Given the description of an element on the screen output the (x, y) to click on. 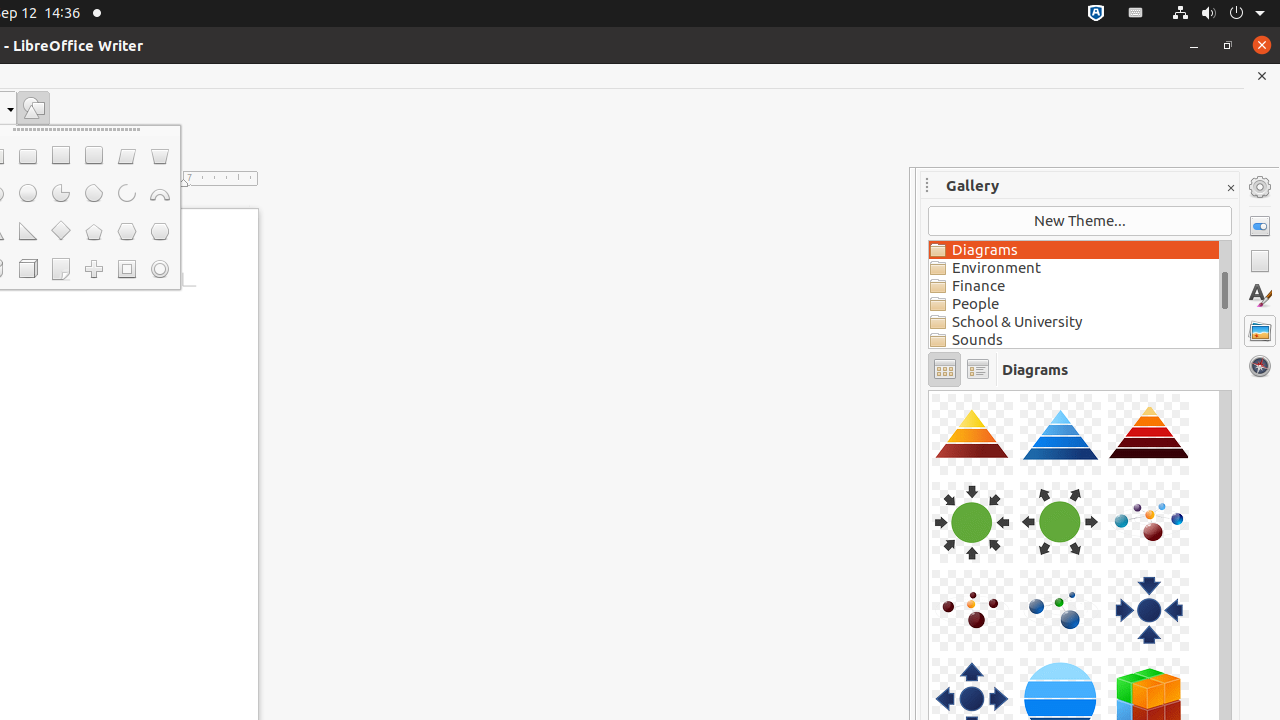
Circle Segment Element type: toggle-button (93, 193)
Component-Gear05-Orange Element type: list-item (929, 390)
Component-Person01-DarkBlue Element type: list-item (929, 390)
Component-Cube01-DarkBlue Element type: list-item (929, 390)
Component-Gear03-Green Element type: list-item (929, 390)
